Given the description of an element on the screen output the (x, y) to click on. 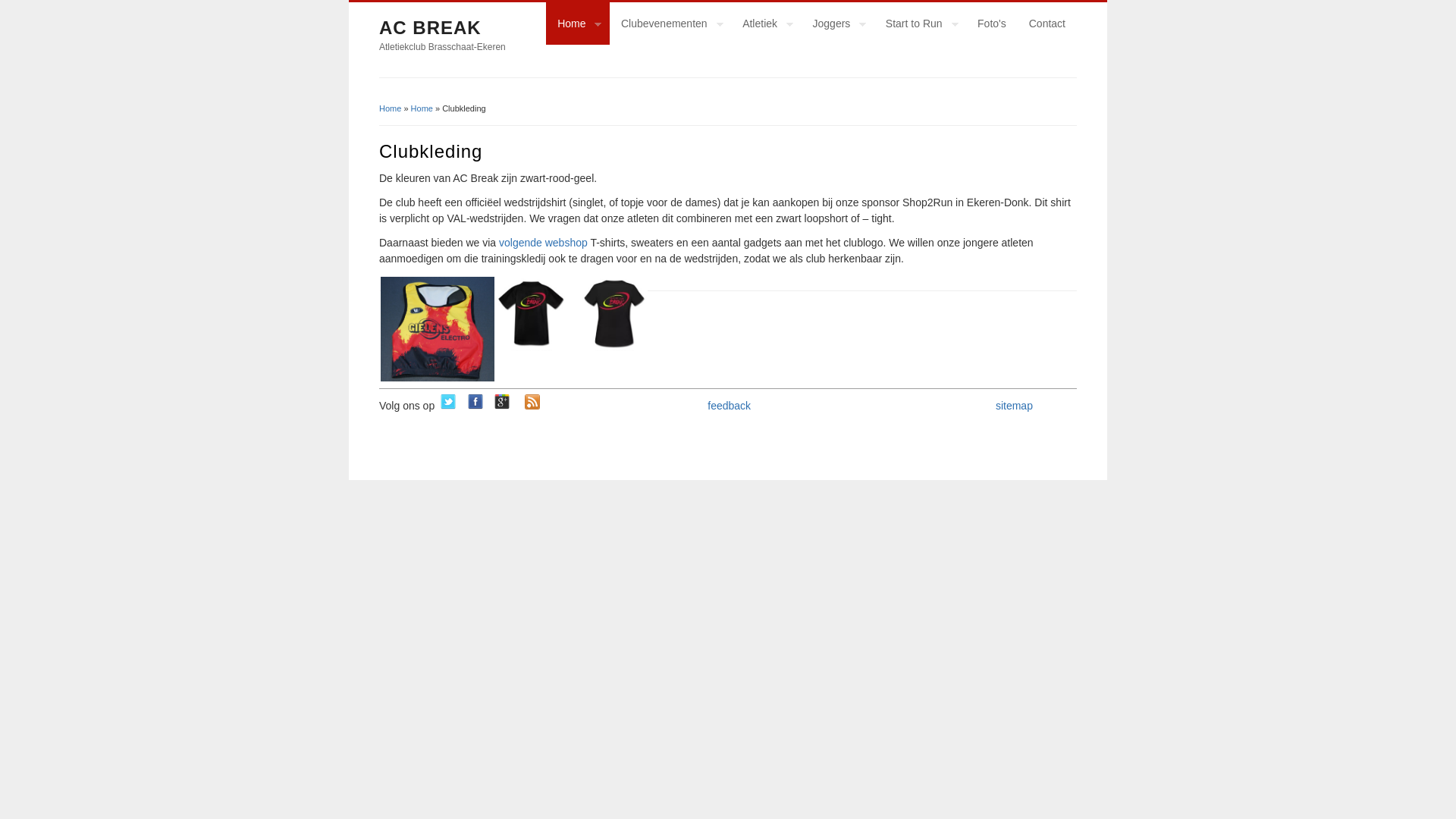
feedback Element type: text (728, 405)
Foto's Element type: text (991, 23)
Contact Element type: text (1046, 23)
volgende webshop Element type: text (542, 242)
AC BREAK Element type: text (430, 27)
Home Element type: text (422, 107)
sitemap Element type: text (1013, 405)
Home Element type: text (390, 107)
